Given the description of an element on the screen output the (x, y) to click on. 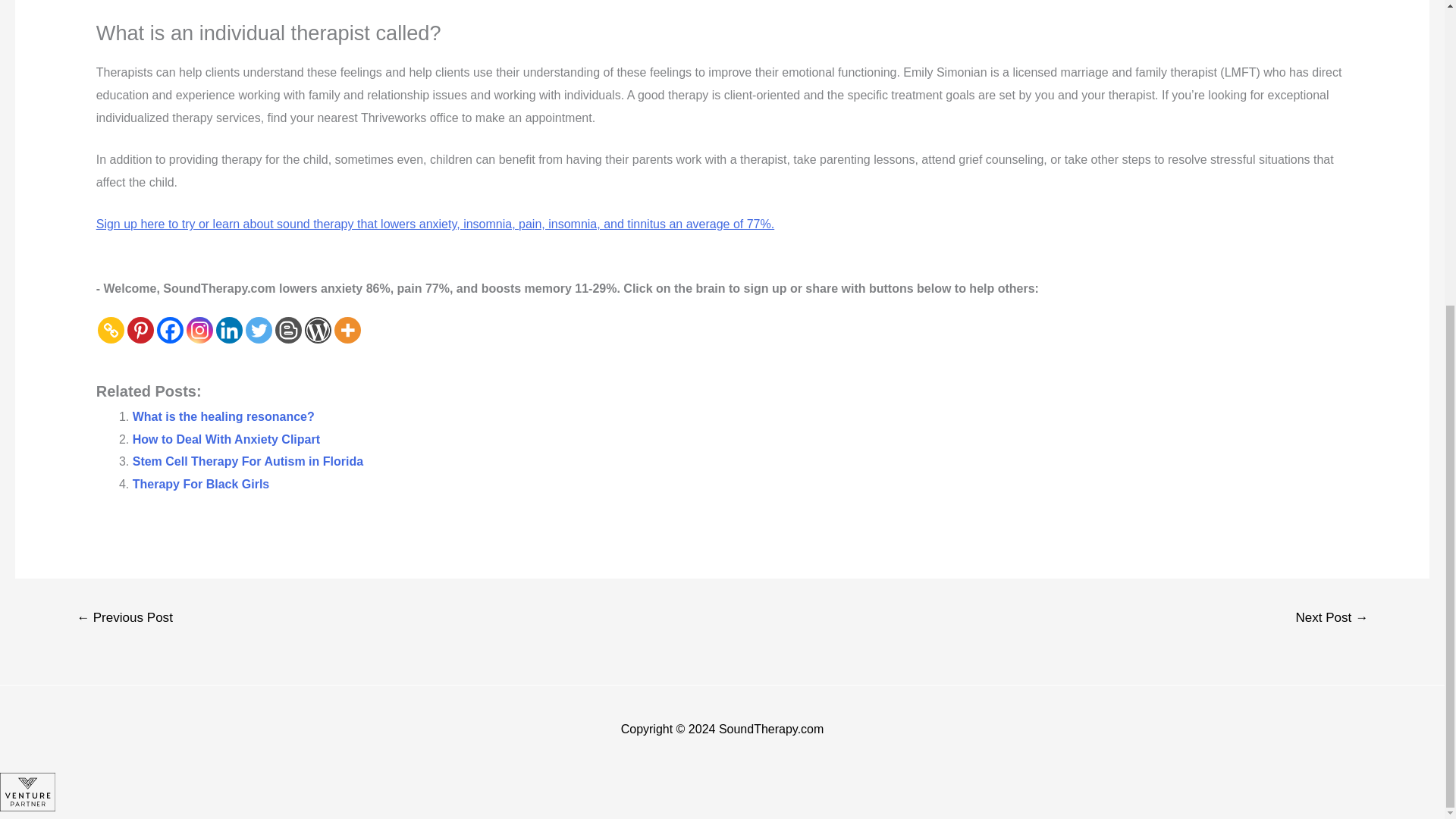
Pinterest (141, 329)
Facebook (170, 329)
Stem Cell Therapy For Autism in Florida (247, 461)
What is the healing resonance? (223, 416)
Therapy For Black Girls (200, 483)
Copy Link (110, 329)
How to Deal With Anxiety Clipart (226, 439)
